Given the description of an element on the screen output the (x, y) to click on. 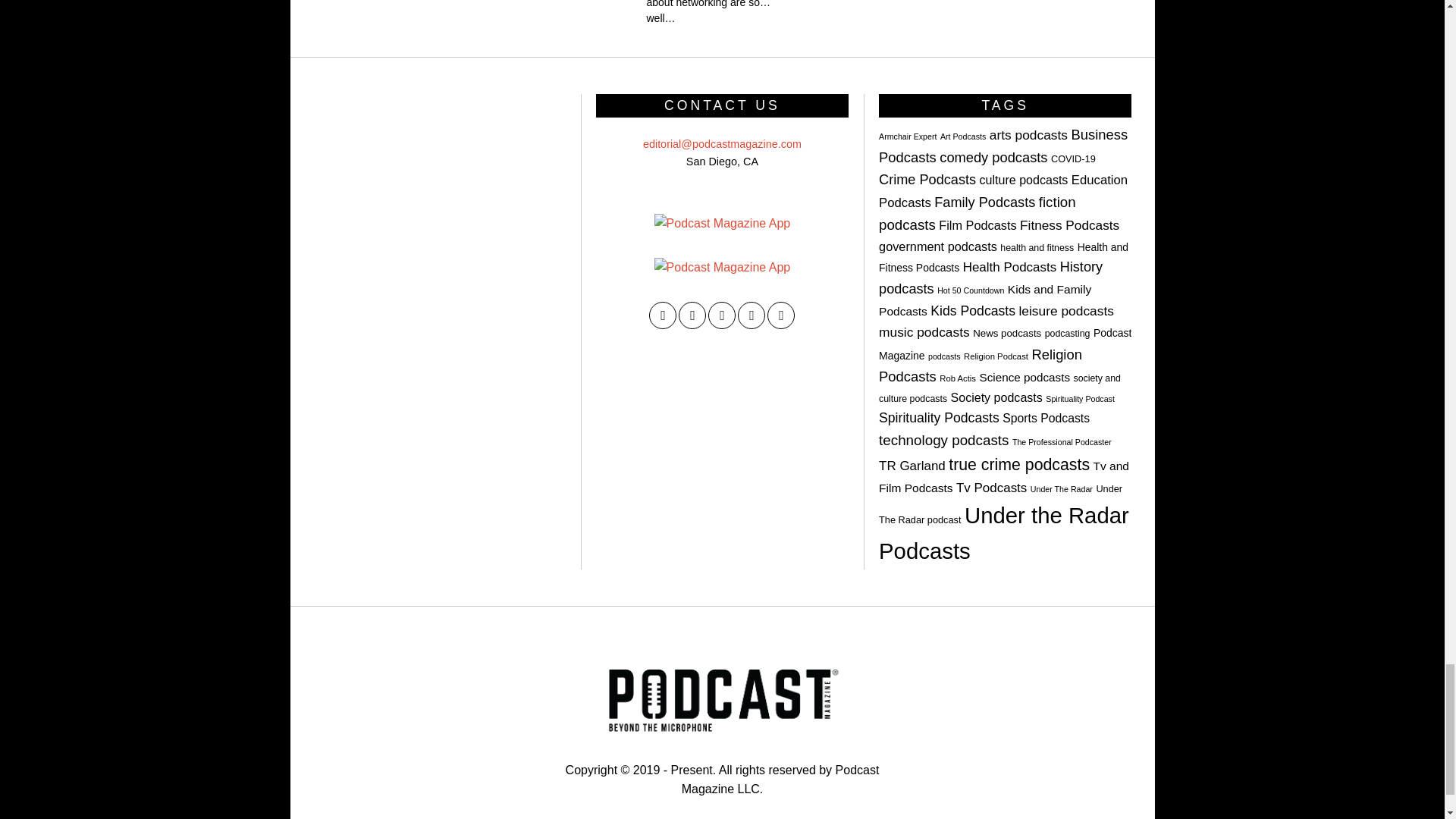
Twitter (692, 315)
Pinterest (751, 315)
Facebook (663, 315)
Instagram (721, 315)
